Given the description of an element on the screen output the (x, y) to click on. 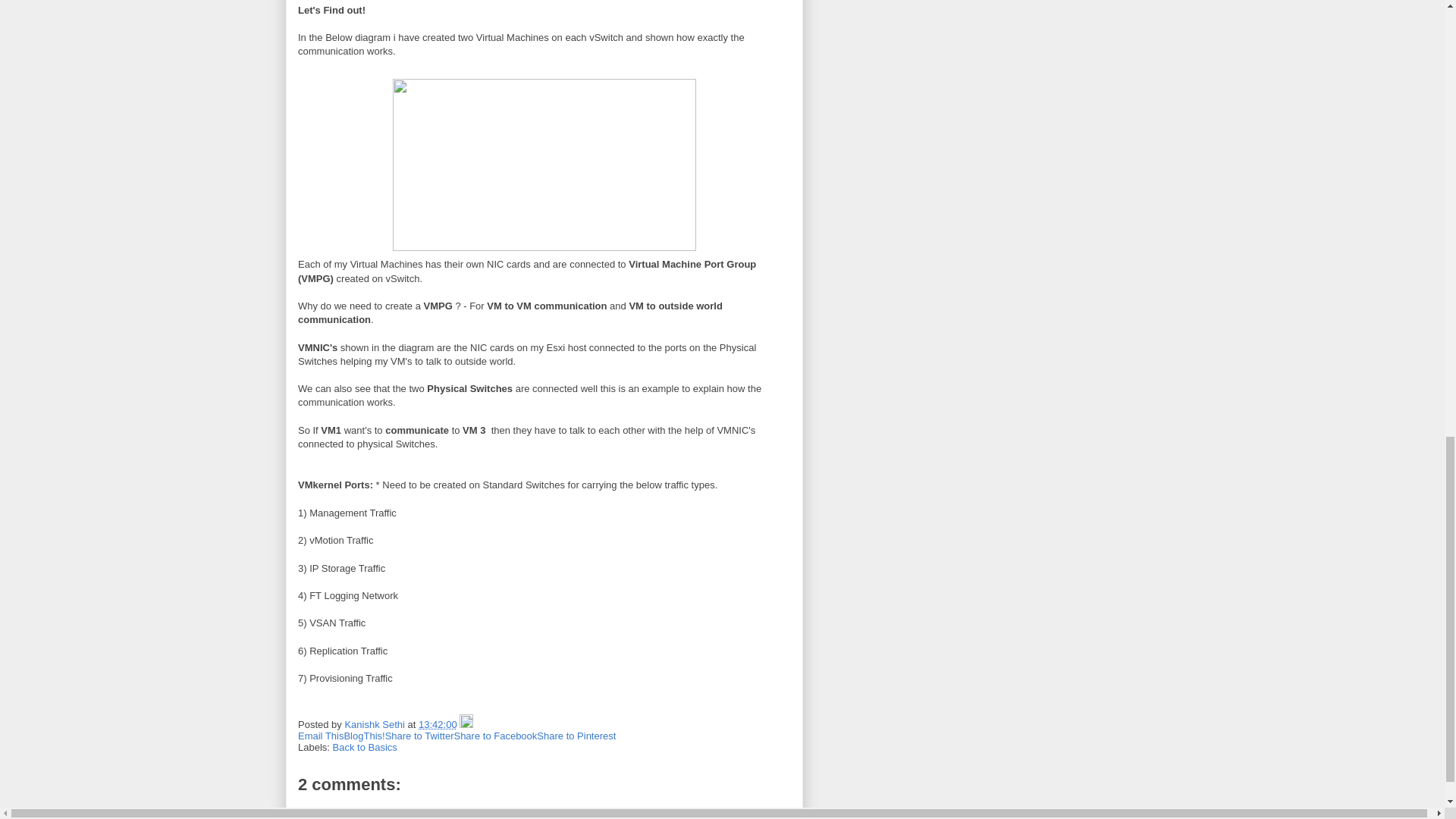
permanent link (438, 724)
13:42:00 (438, 724)
author profile (375, 724)
BlogThis! (363, 736)
Share to Pinterest (576, 736)
Share to Twitter (419, 736)
Share to Twitter (419, 736)
BlogThis! (363, 736)
Share to Facebook (494, 736)
Edit Post (466, 724)
